Given the description of an element on the screen output the (x, y) to click on. 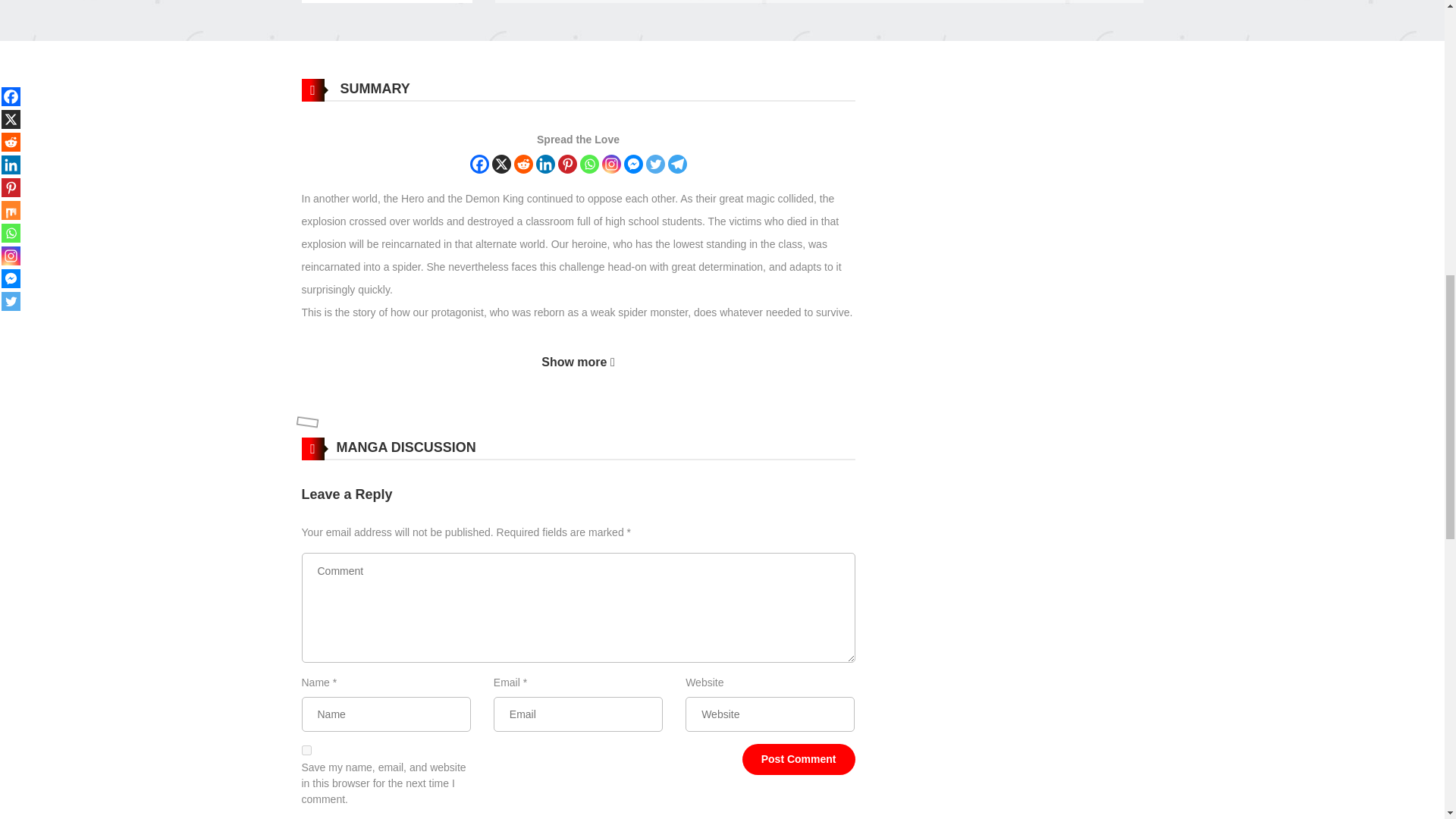
Reddit (522, 163)
Facebook (479, 163)
Post Comment (799, 758)
yes (306, 750)
Instagram (611, 163)
Pinterest (566, 163)
Twitter (655, 163)
X (501, 163)
Whatsapp (588, 163)
Telegram (675, 163)
Linkedin (544, 163)
